Given the description of an element on the screen output the (x, y) to click on. 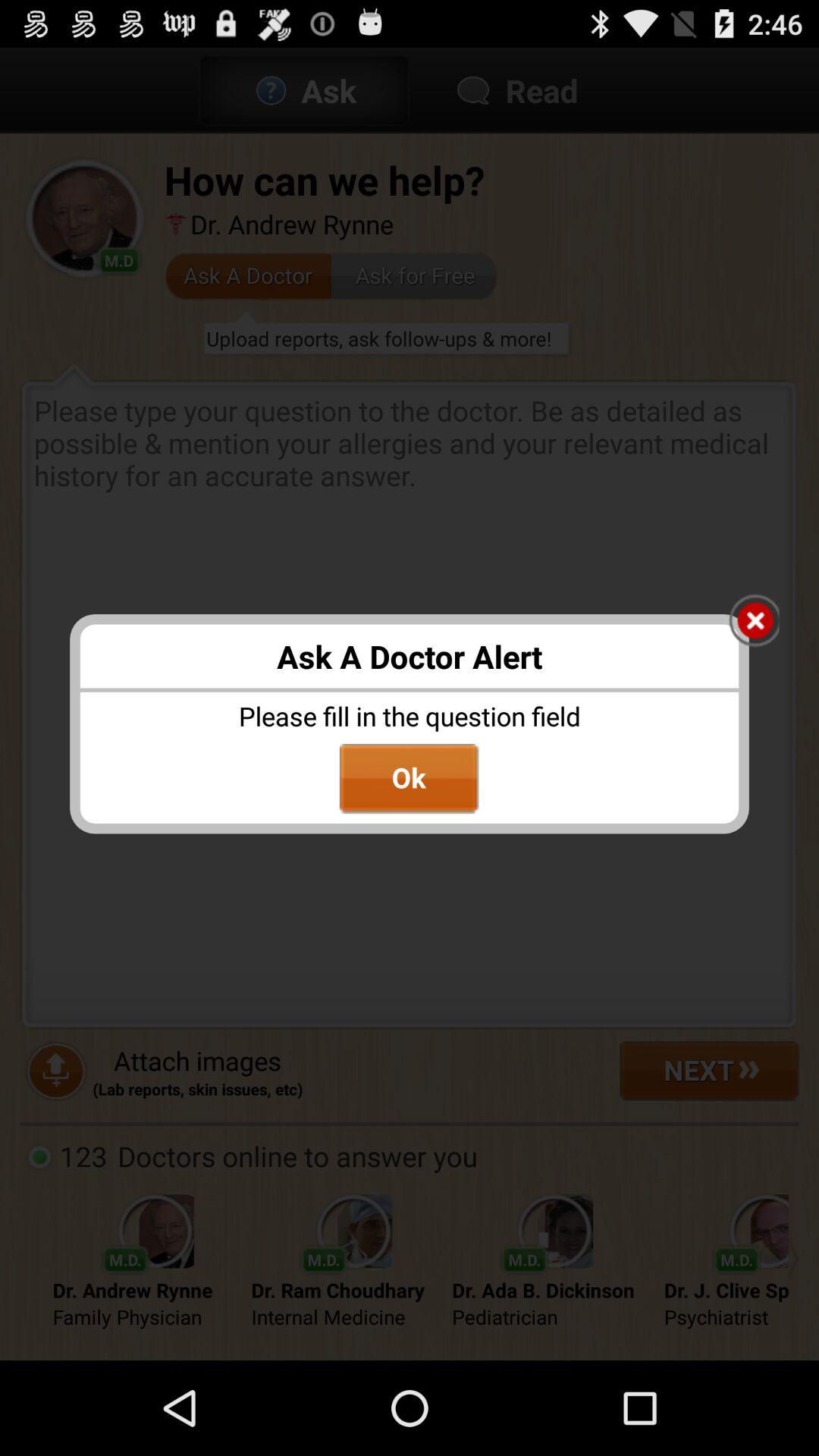
press the app below the please fill in icon (408, 778)
